Given the description of an element on the screen output the (x, y) to click on. 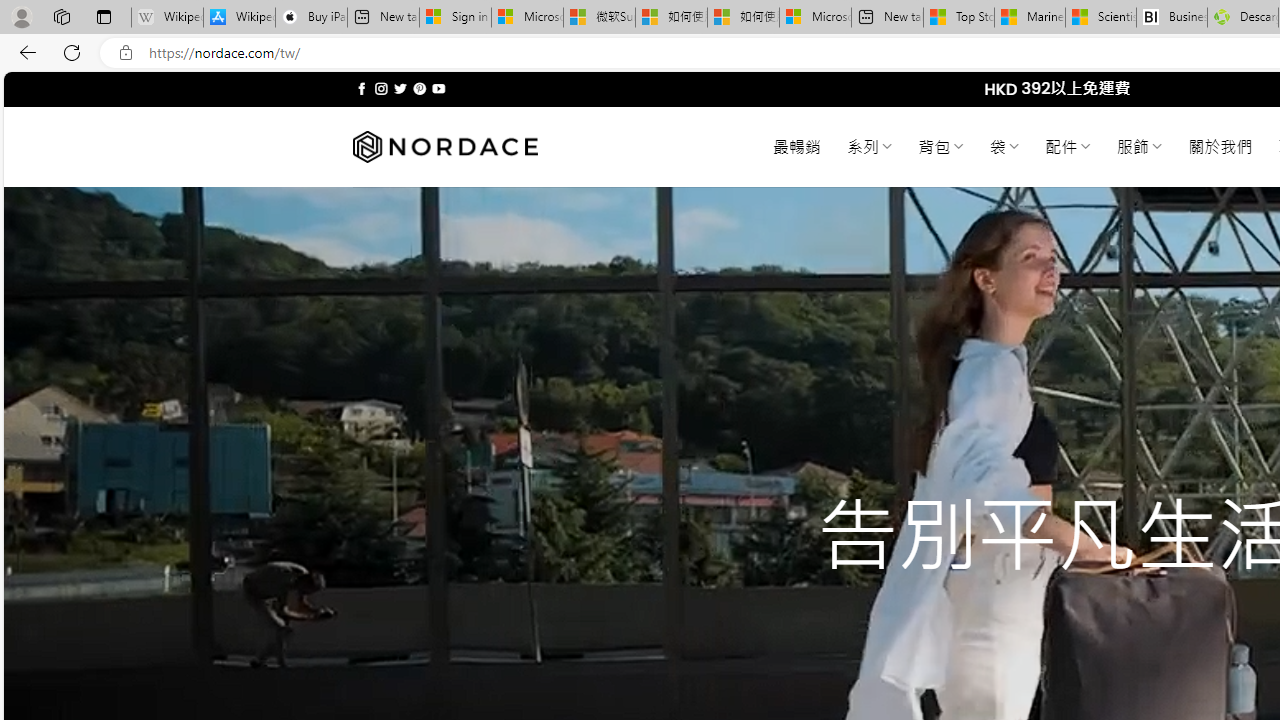
Follow on Instagram (381, 88)
Microsoft account | Account Checkup (815, 17)
Follow on YouTube (438, 88)
Marine life - MSN (1029, 17)
